Given the description of an element on the screen output the (x, y) to click on. 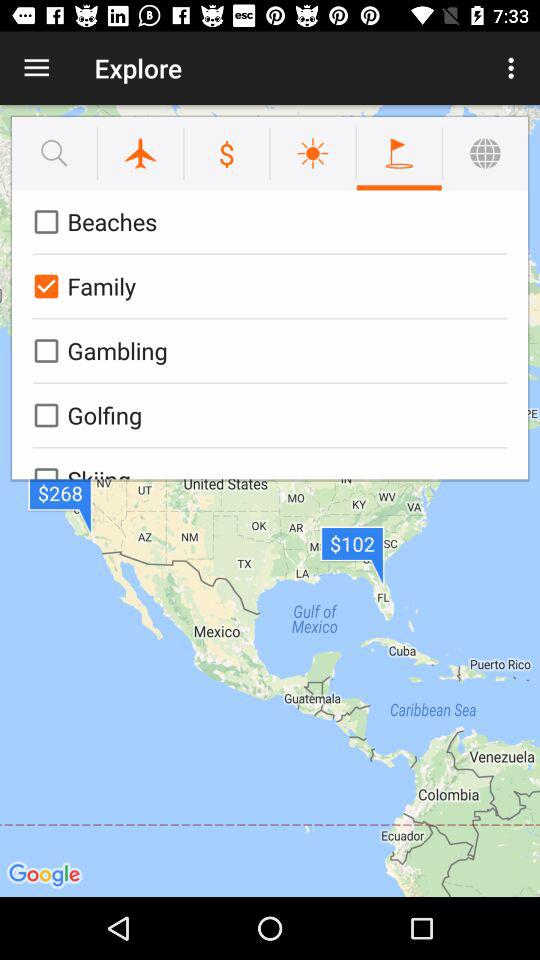
choose the beaches icon (266, 221)
